Given the description of an element on the screen output the (x, y) to click on. 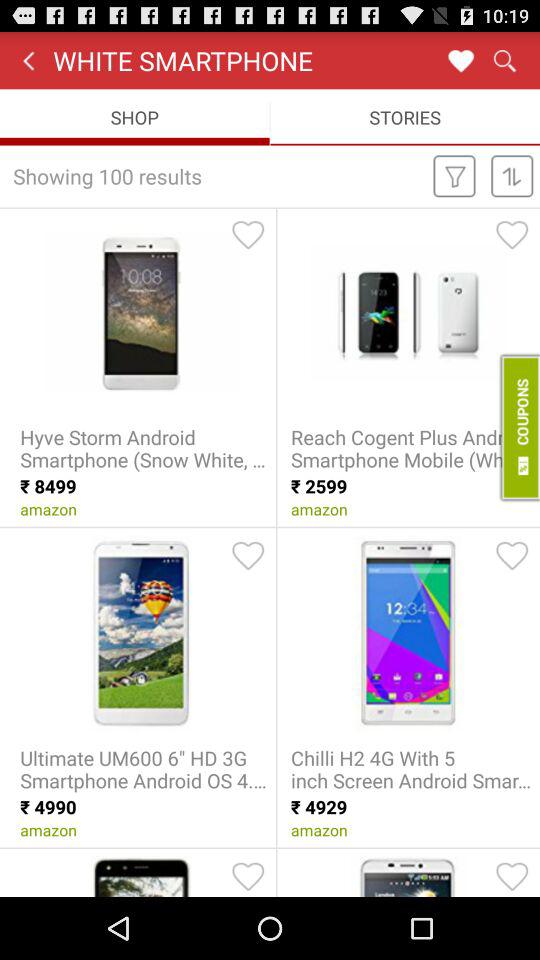
favorite this page (460, 60)
